Given the description of an element on the screen output the (x, y) to click on. 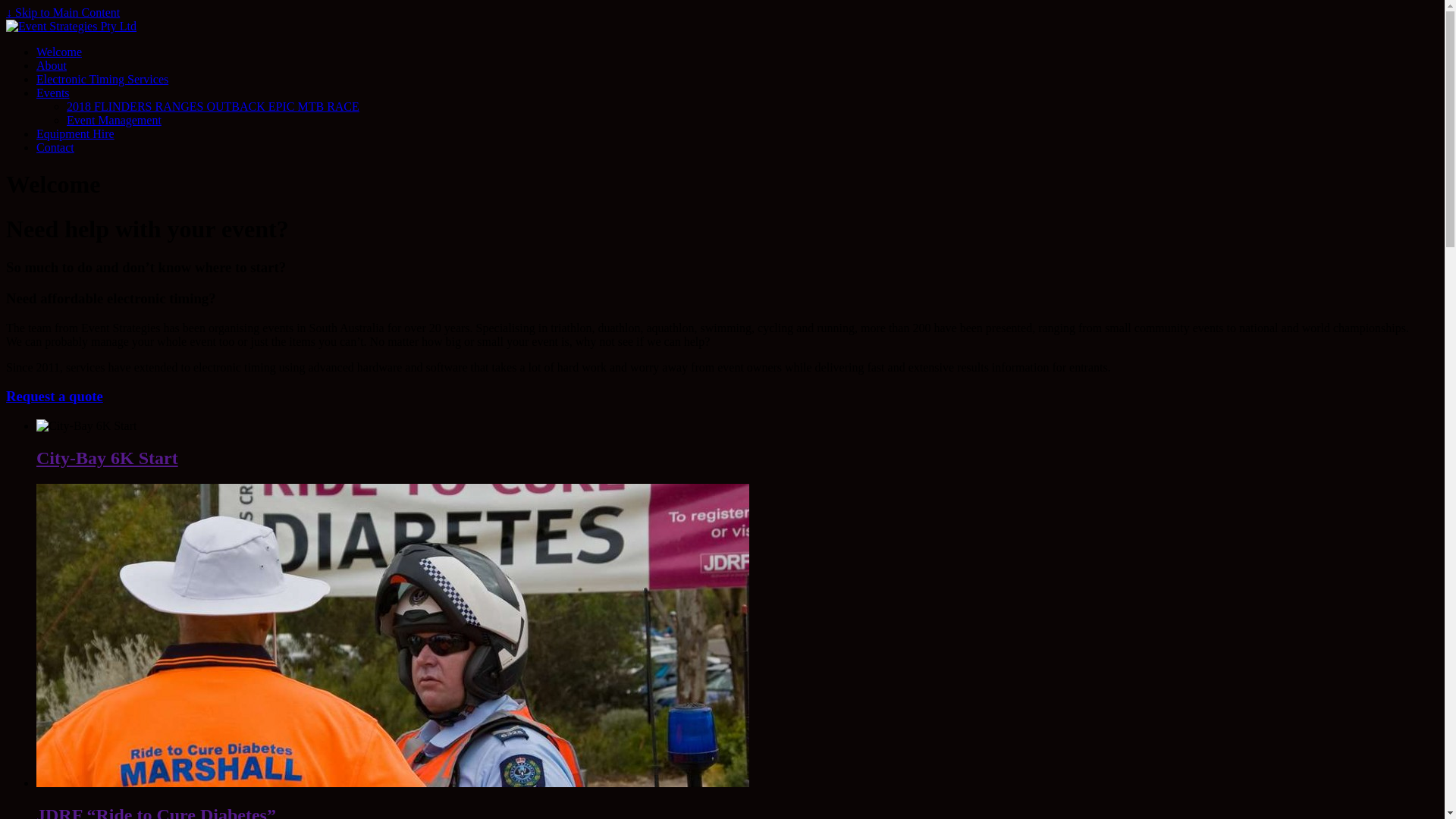
City-Bay 6K Start Element type: text (107, 457)
Equipment Hire Element type: text (75, 133)
Request a quote Element type: text (54, 396)
Contact Element type: text (55, 147)
Events Element type: text (52, 92)
About Element type: text (51, 65)
2018 FLINDERS RANGES OUTBACK EPIC MTB RACE Element type: text (212, 106)
Event Management Element type: text (113, 119)
Welcome Element type: text (58, 51)
Electronic Timing Services Element type: text (102, 78)
